Given the description of an element on the screen output the (x, y) to click on. 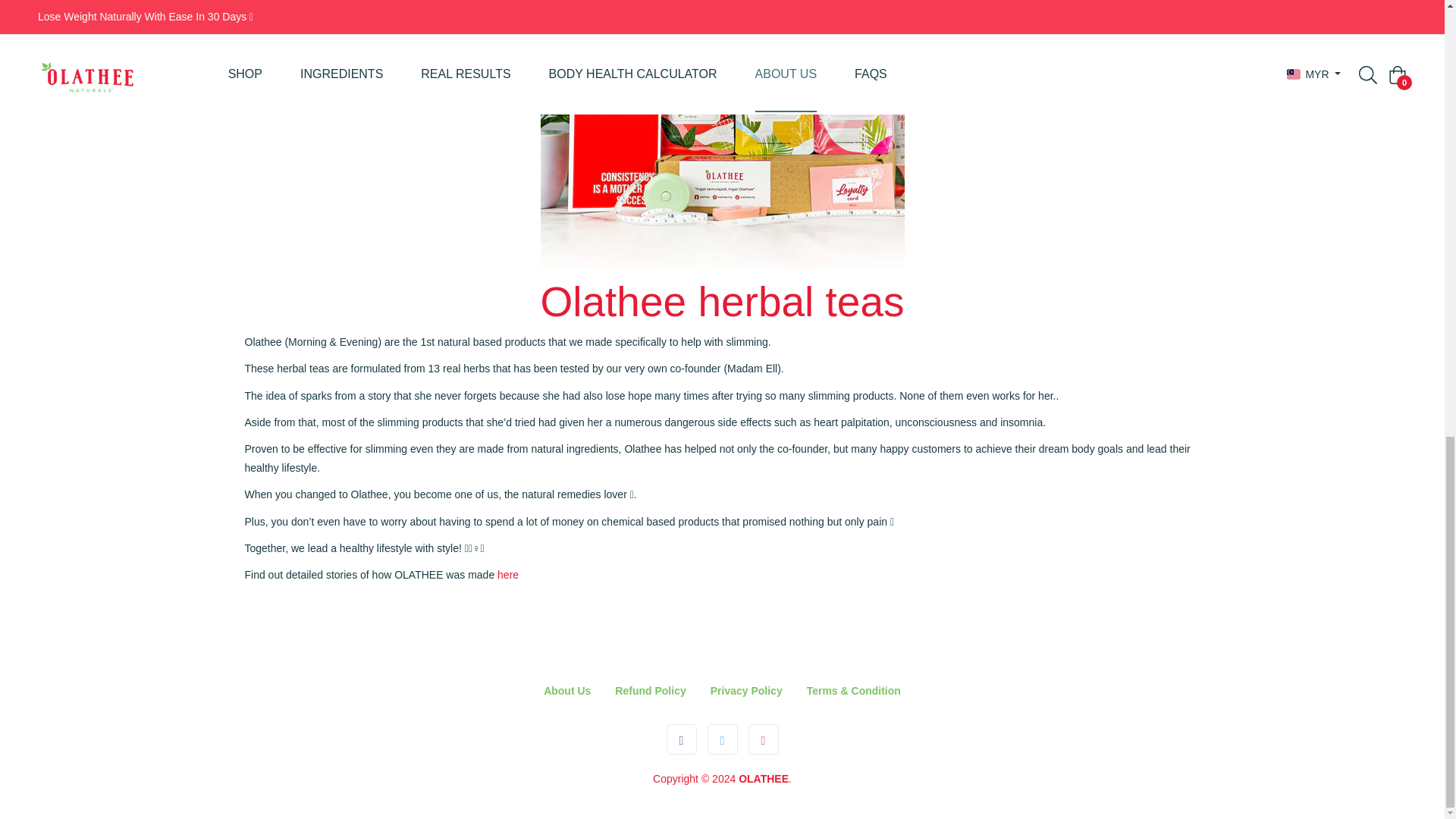
Privacy Policy (746, 690)
Refund Policy (649, 690)
About Us (567, 690)
Real story of LUSLIMLABEB and the co-founders (507, 574)
here (507, 574)
OLATHEE on Twitter (722, 739)
OLATHEE on Facebook (681, 739)
OLATHEE on Instagram (762, 739)
